Given the description of an element on the screen output the (x, y) to click on. 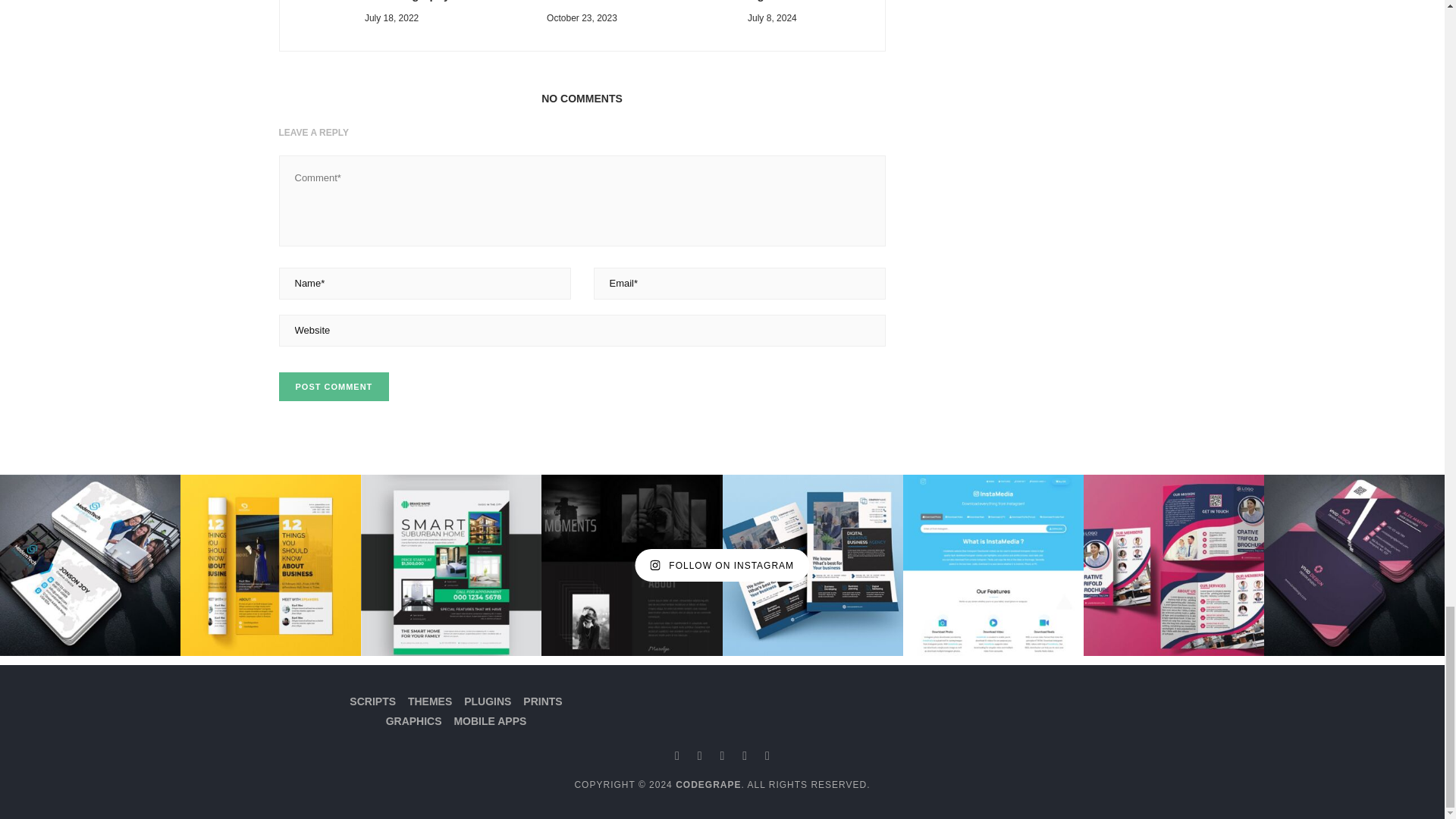
Post Comment (334, 386)
